Given the description of an element on the screen output the (x, y) to click on. 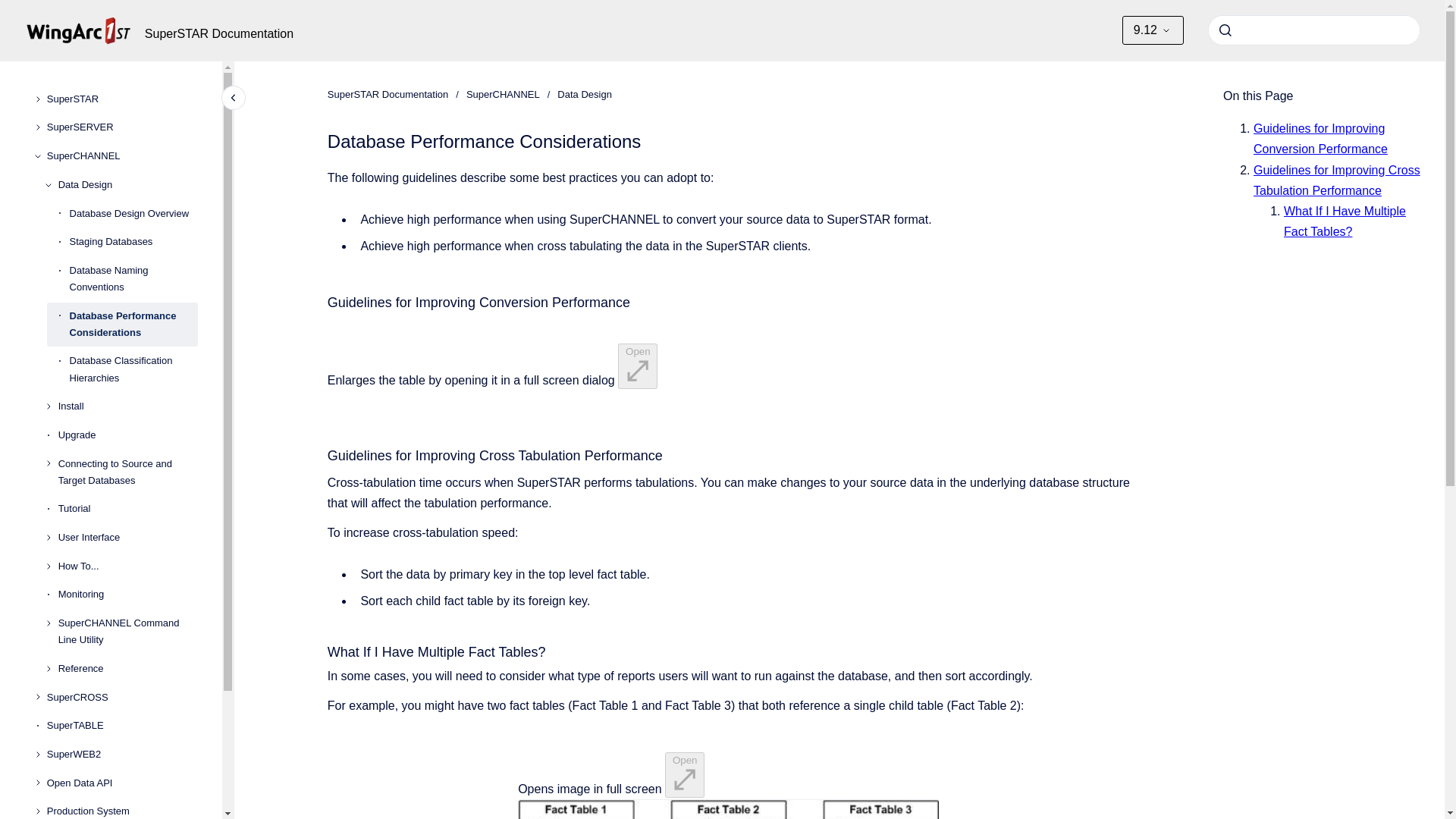
SuperCROSS (122, 697)
How To... (128, 565)
Connecting to Source and Target Databases (128, 472)
Staging Databases (133, 241)
SuperWEB2 (122, 754)
Database Naming Conventions (133, 279)
User Interface (128, 537)
SuperTABLE (122, 726)
Database Design Overview (133, 213)
SuperCHANNEL Command Line Utility (128, 631)
